Given the description of an element on the screen output the (x, y) to click on. 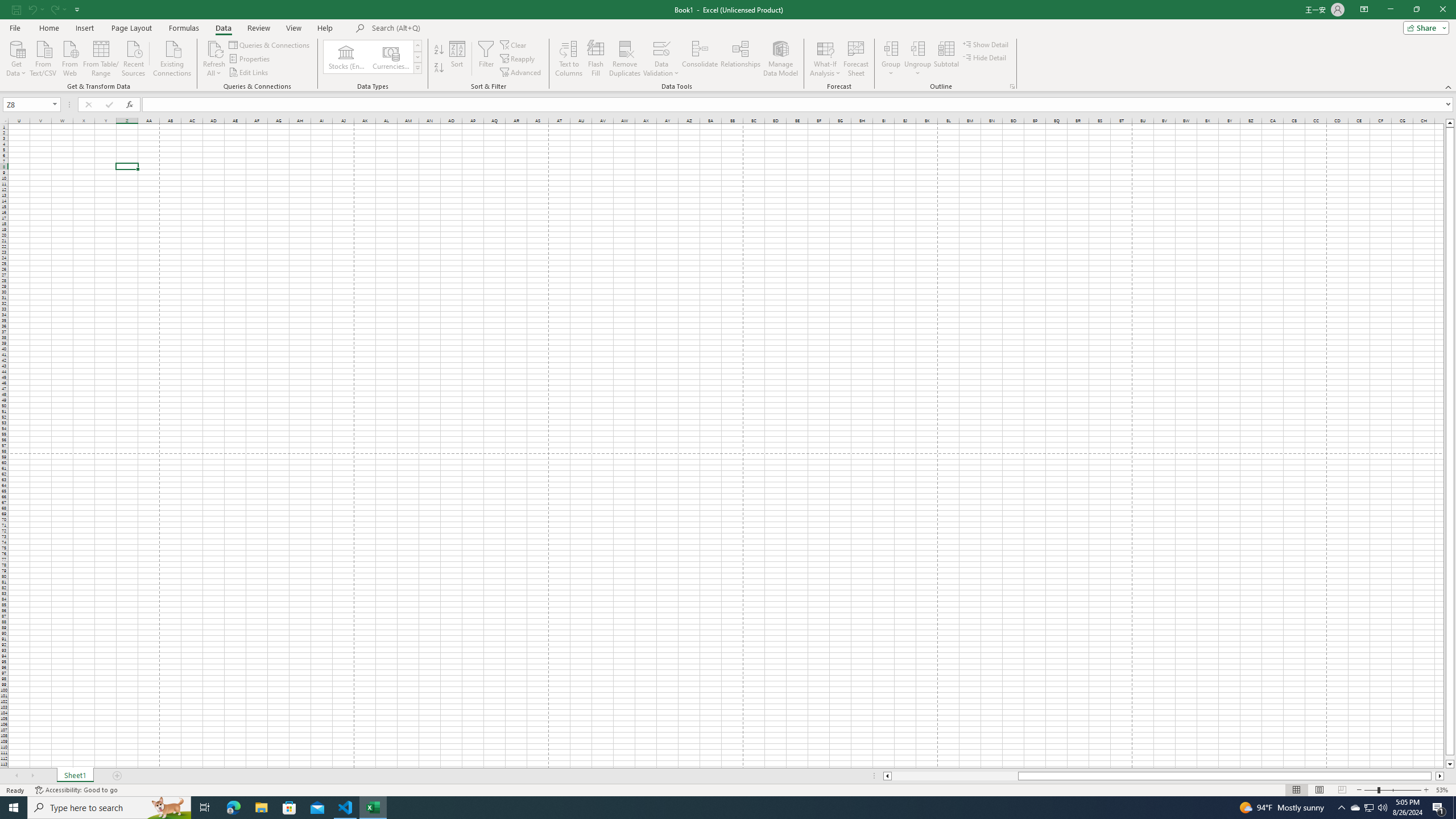
Consolidate... (700, 58)
